Given the description of an element on the screen output the (x, y) to click on. 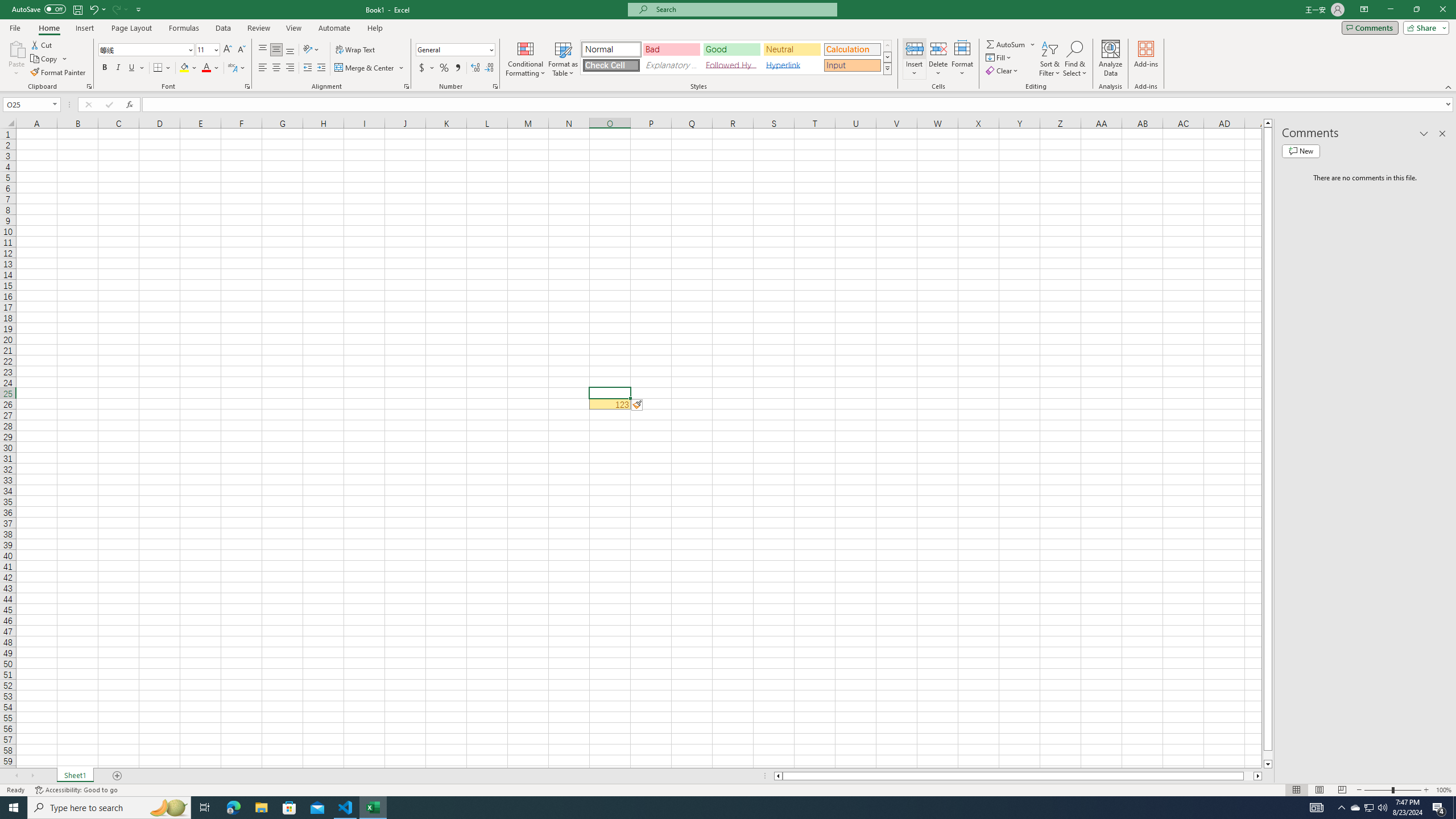
Paste (16, 58)
AutoSum (1011, 44)
Zoom (1392, 790)
Zoom Out (1377, 790)
Decrease Decimal (489, 67)
Class: NetUIScrollBar (1018, 775)
Number Format (455, 49)
Line up (1267, 122)
View (293, 28)
Save (77, 9)
Conditional Formatting (525, 58)
Format Cell Number (494, 85)
Cut (42, 44)
